Given the description of an element on the screen output the (x, y) to click on. 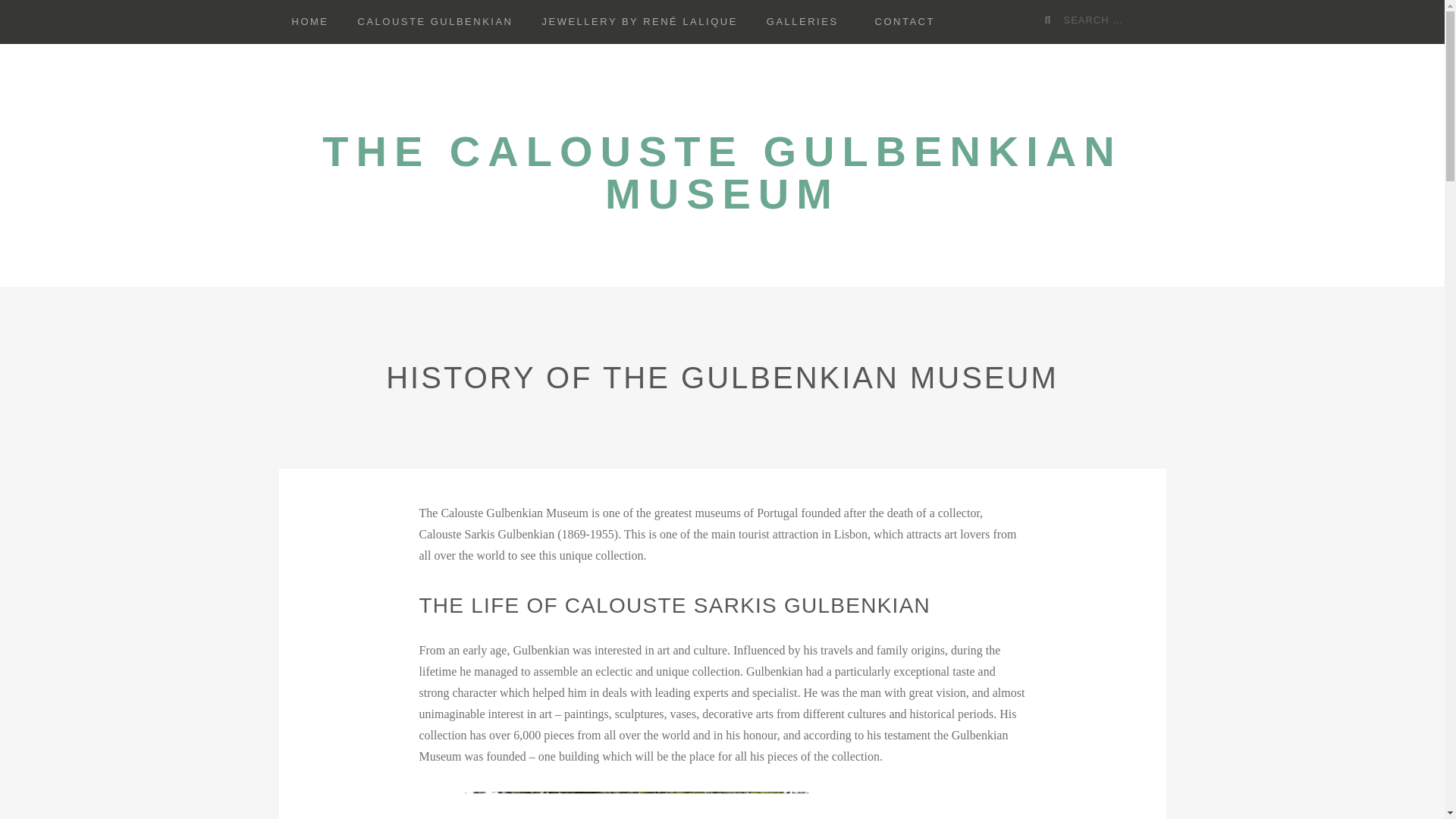
HOME (310, 21)
CONTACT (904, 21)
CALOUSTE GULBENKIAN (434, 21)
THE CALOUSTE GULBENKIAN MUSEUM (721, 172)
GALLERIES (802, 21)
